Given the description of an element on the screen output the (x, y) to click on. 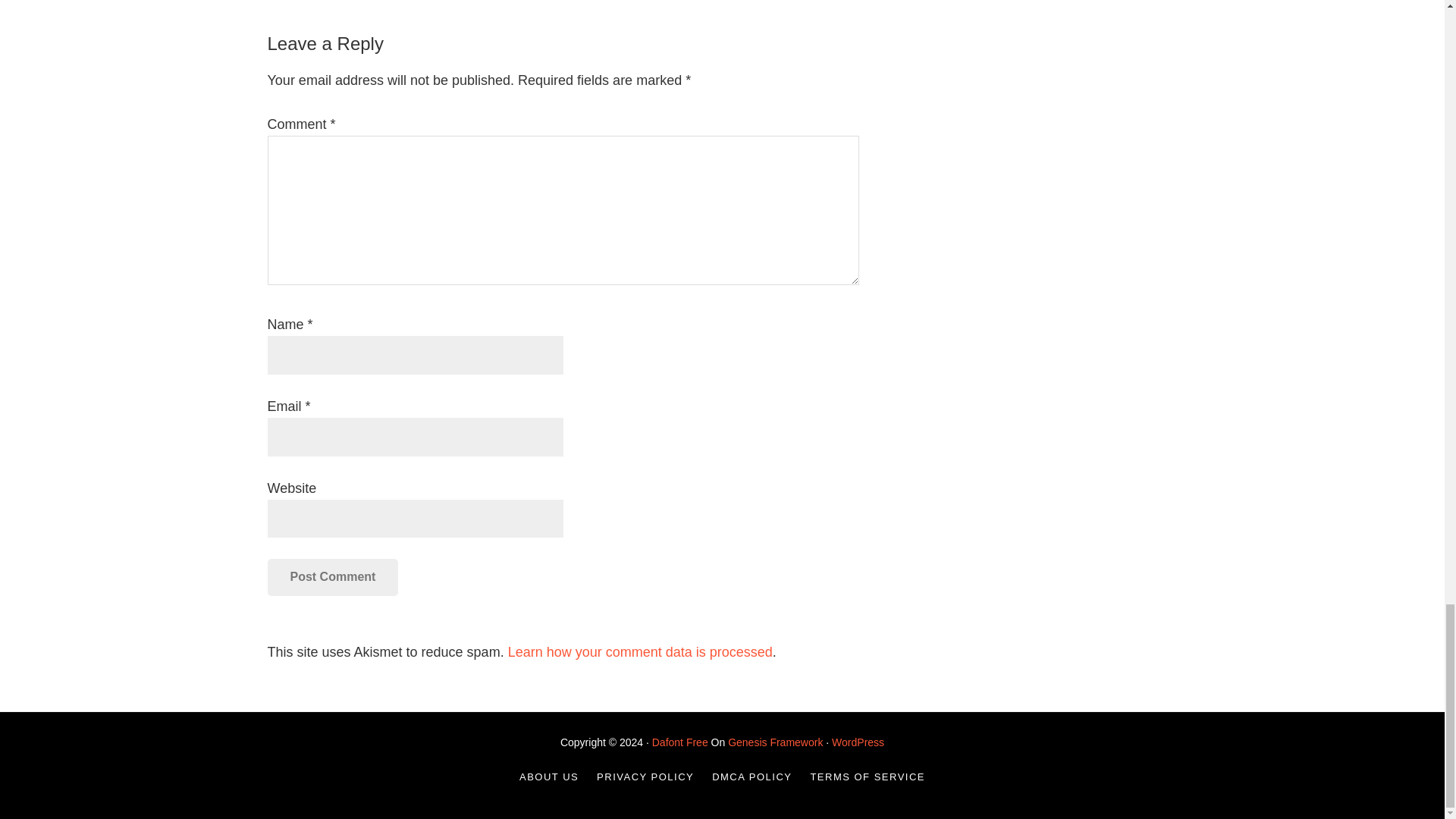
Learn how your comment data is processed (640, 652)
Post Comment (331, 576)
Post Comment (331, 576)
